Given the description of an element on the screen output the (x, y) to click on. 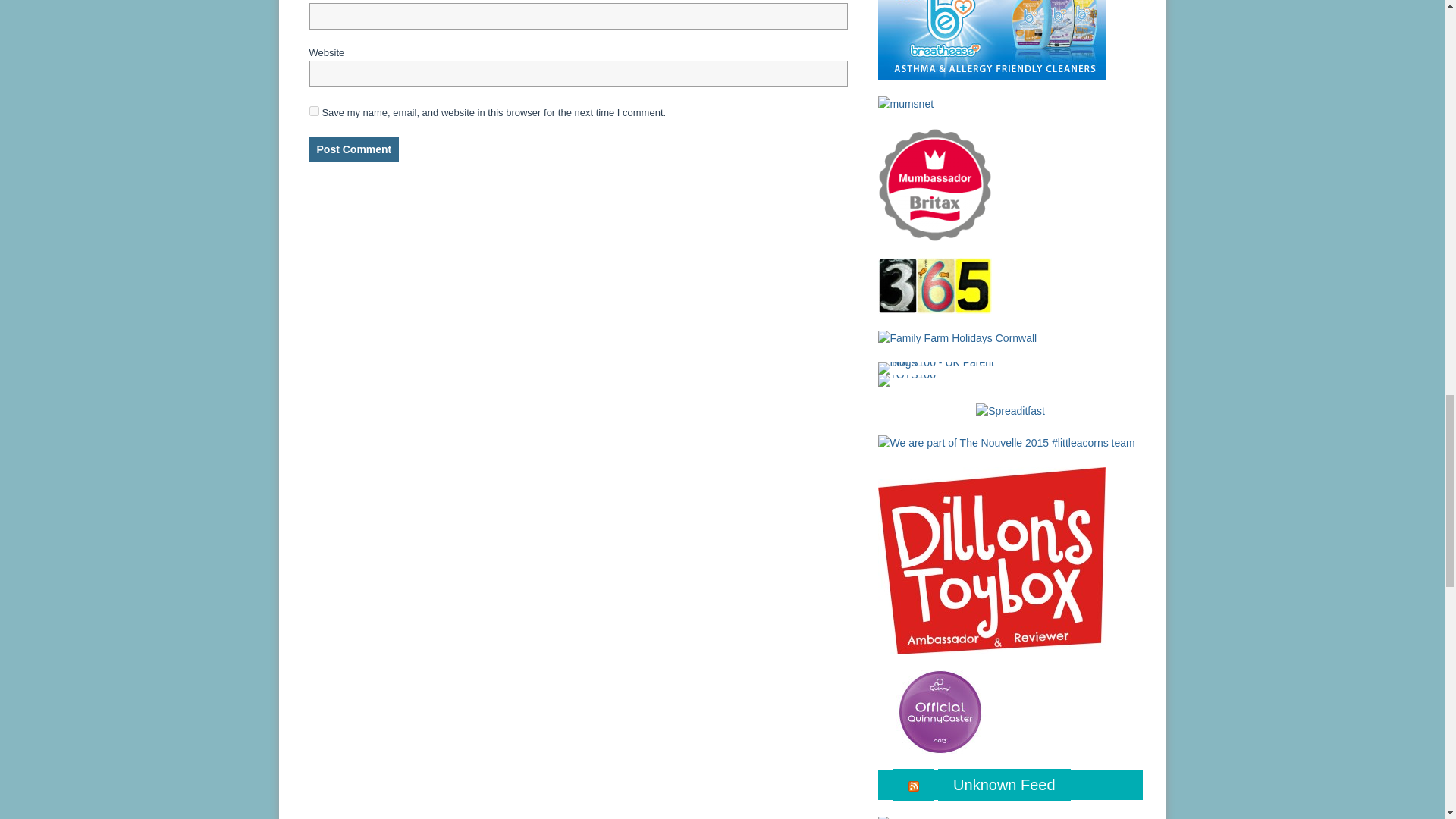
TOTS100 - UK Parent Blogs (940, 368)
Post Comment (353, 149)
Family Farm Holidays Cornwall (956, 337)
TheBoyandMe's 365 Linky (934, 285)
yes (313, 111)
Post Comment (353, 149)
TOTS 100 - UK Parent Blogs (940, 367)
Family Farm Holidays Cornwall (956, 338)
